Given the description of an element on the screen output the (x, y) to click on. 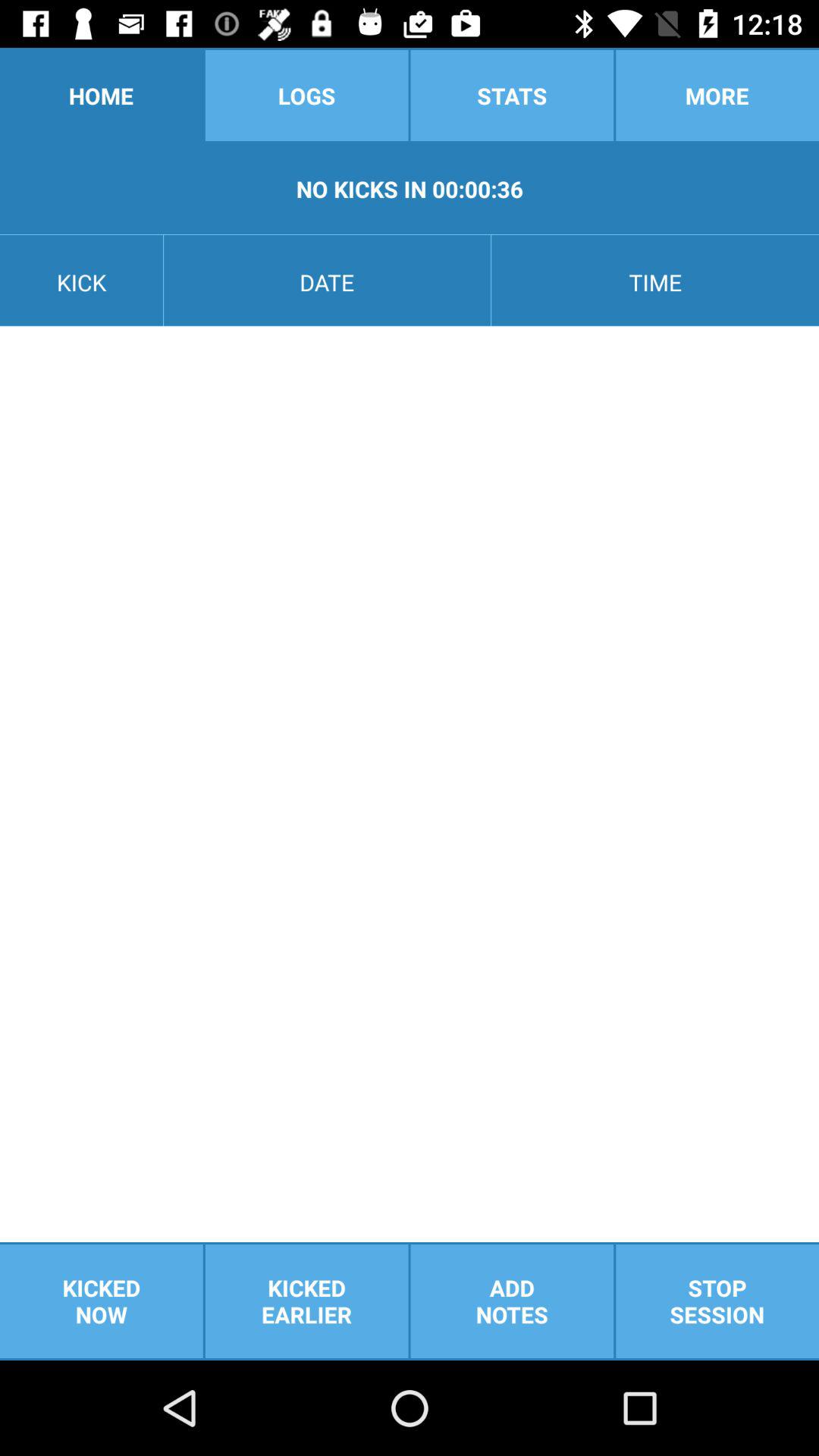
turn off the add
notes item (511, 1301)
